Given the description of an element on the screen output the (x, y) to click on. 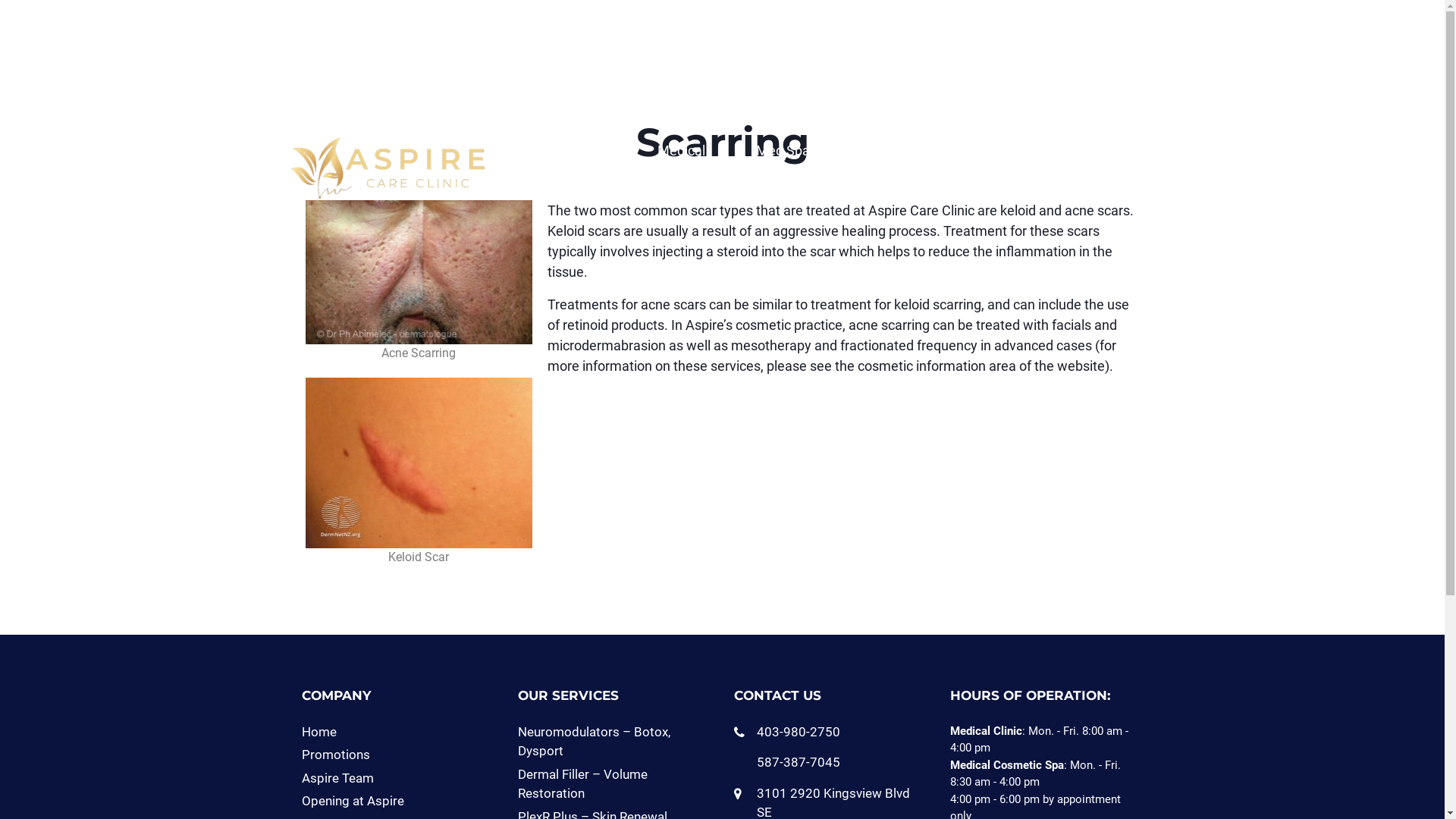
587-387-7045 Element type: text (798, 761)
Home Element type: text (614, 160)
Home Element type: text (318, 731)
Aspire Team Element type: text (337, 777)
Promotions Element type: text (1011, 160)
SkinCare Products Element type: text (1100, 160)
Med Spa Services Element type: text (799, 160)
Promotions Element type: text (335, 754)
Opening at Aspire Element type: text (352, 800)
403-980-2750 Element type: text (798, 731)
Medical Services Element type: text (698, 160)
Med Spa Treatments Element type: text (909, 160)
